Given the description of an element on the screen output the (x, y) to click on. 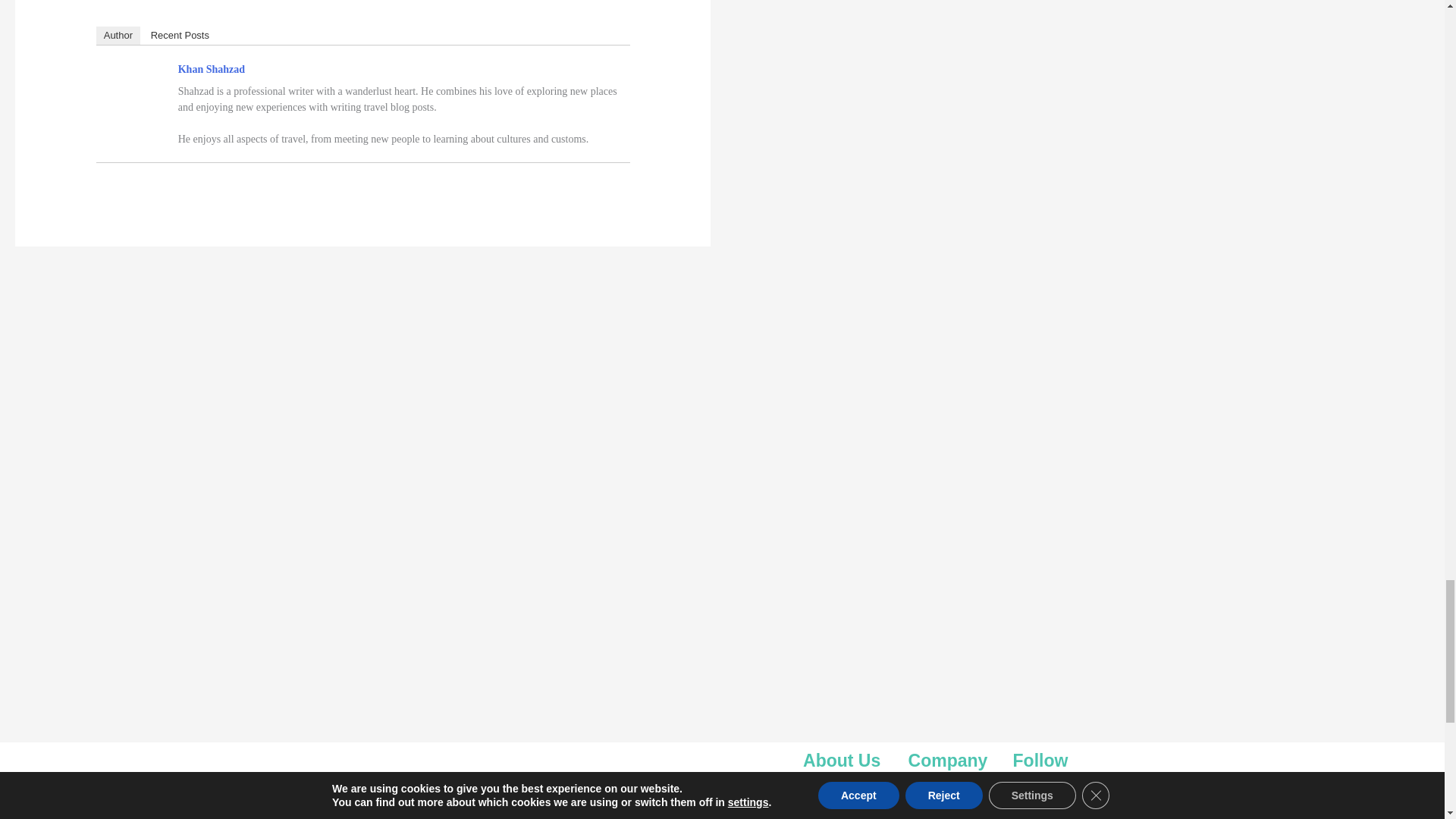
Recent Posts (179, 35)
Youtube (758, 817)
Facebook (1053, 811)
Facebook-f (748, 806)
Khan Shahzad (210, 69)
About Us (952, 799)
Author (117, 35)
Twitter (769, 806)
